Given the description of an element on the screen output the (x, y) to click on. 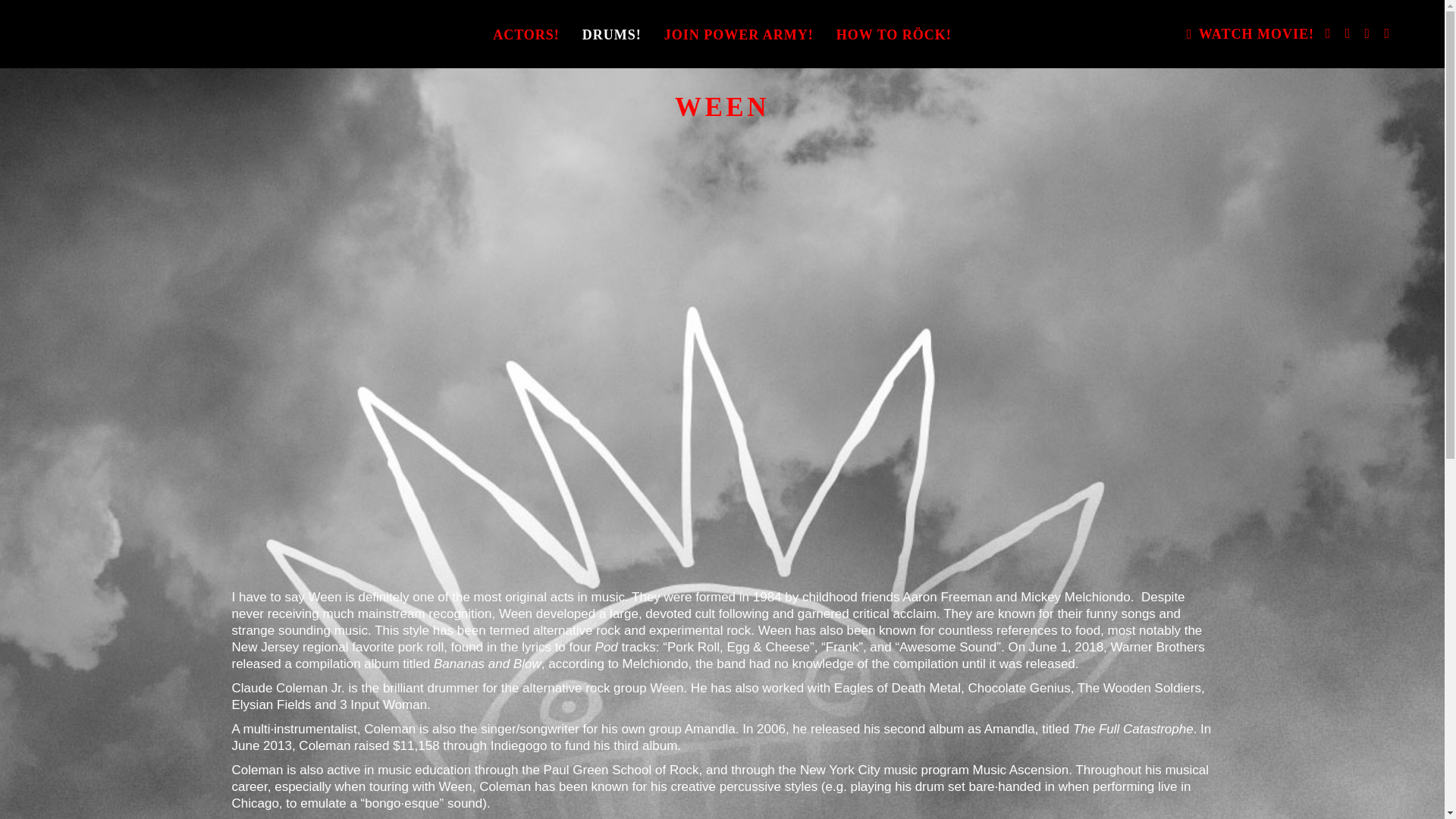
Cult following (731, 613)
ACTORS! (525, 33)
DRUMS! (611, 33)
